Given the description of an element on the screen output the (x, y) to click on. 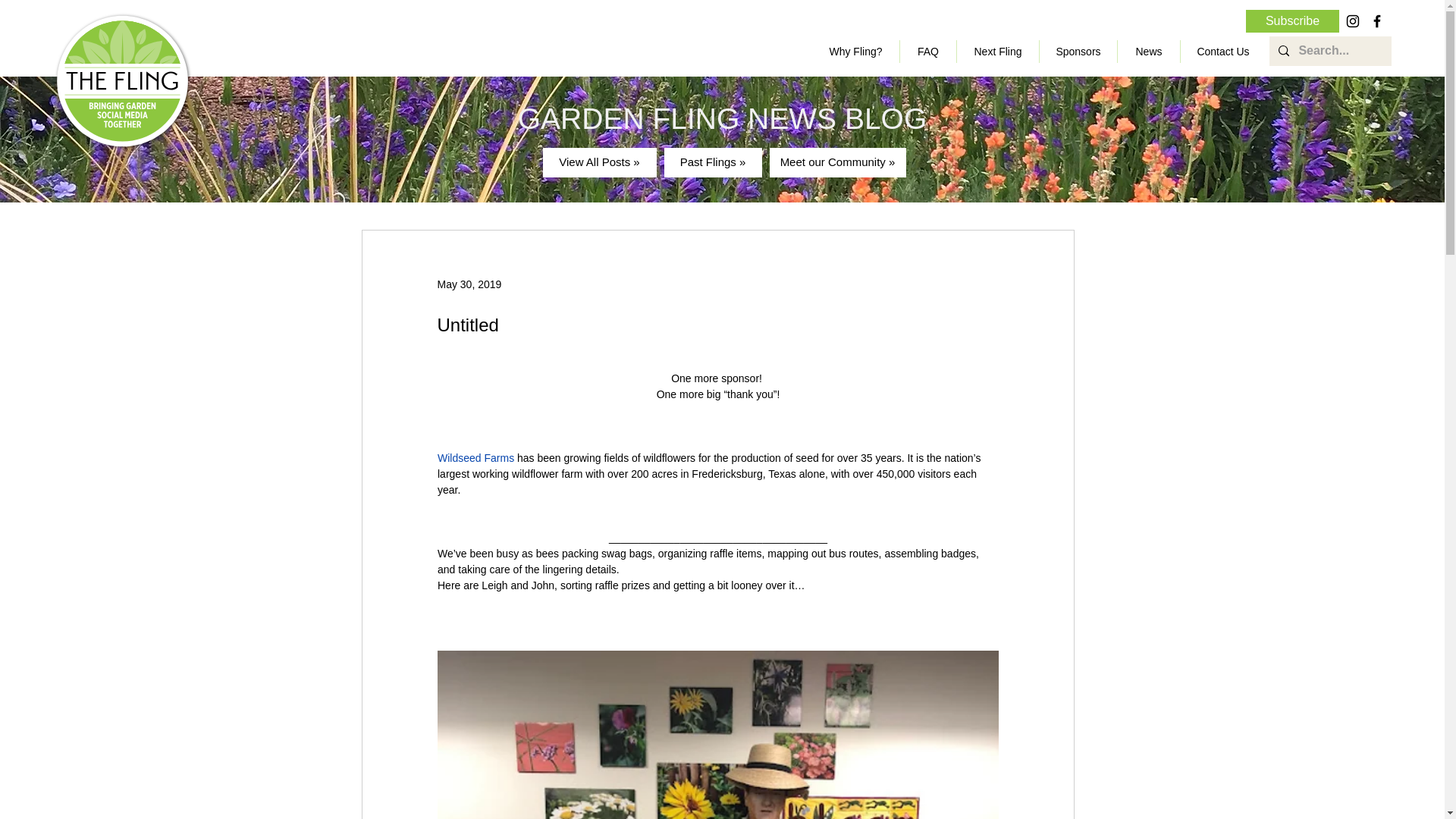
Why Fling? (855, 51)
Next Fling (997, 51)
News (1148, 51)
Wildseed Farms (474, 458)
Contact Us (1222, 51)
Sponsors (1077, 51)
Subscribe (1292, 20)
May 30, 2019 (468, 284)
GARDEN FLING NEWS BLOG (722, 118)
FAQ (927, 51)
